Given the description of an element on the screen output the (x, y) to click on. 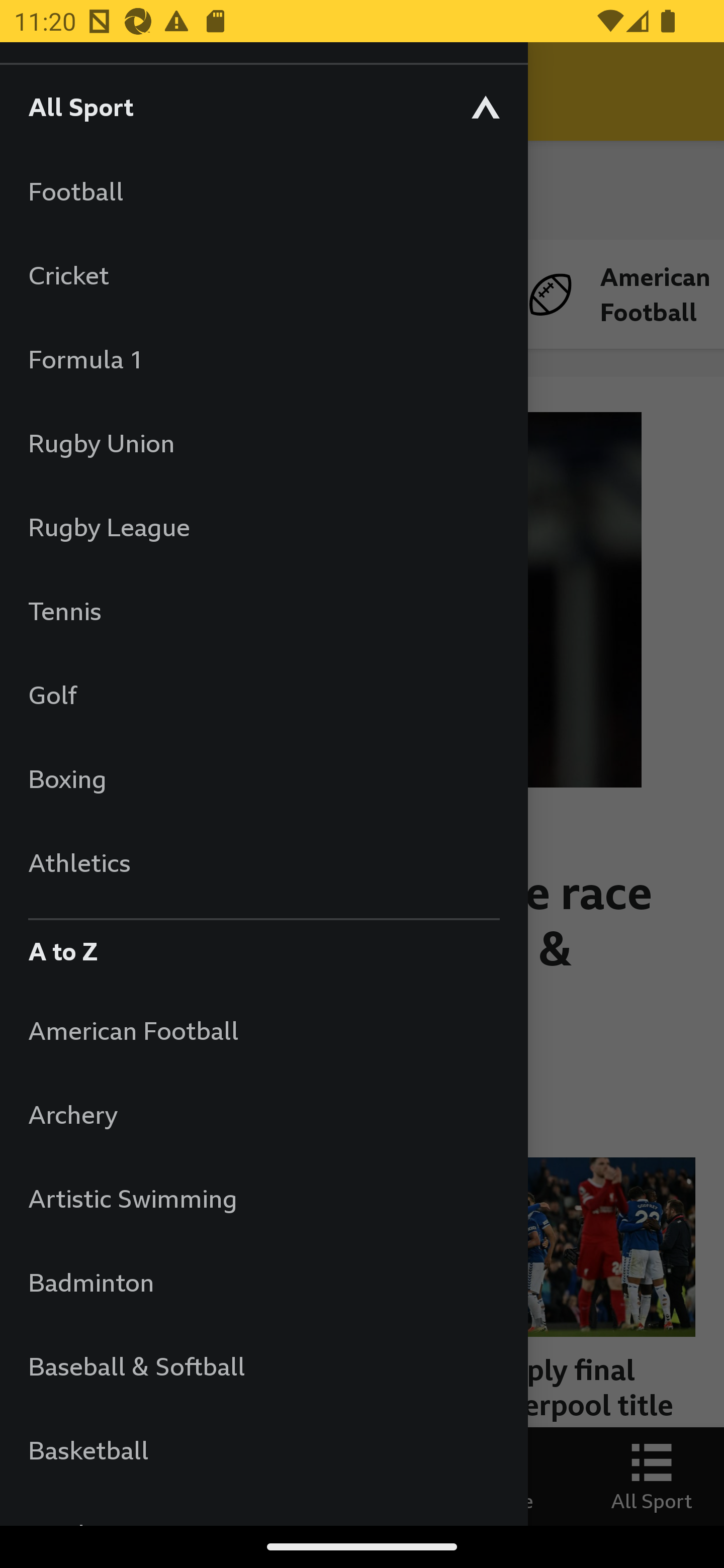
All Sport (263, 105)
Football (263, 190)
Cricket (263, 274)
Formula 1 (263, 358)
Rugby Union (263, 441)
Rugby League (263, 526)
Tennis (263, 609)
Golf (263, 694)
Boxing (263, 778)
Athletics (263, 862)
A to Z (263, 945)
American Football (263, 1029)
Archery (263, 1114)
Artistic Swimming (263, 1197)
Badminton (263, 1282)
Baseball & Softball (263, 1365)
Basketball (263, 1450)
